Given the description of an element on the screen output the (x, y) to click on. 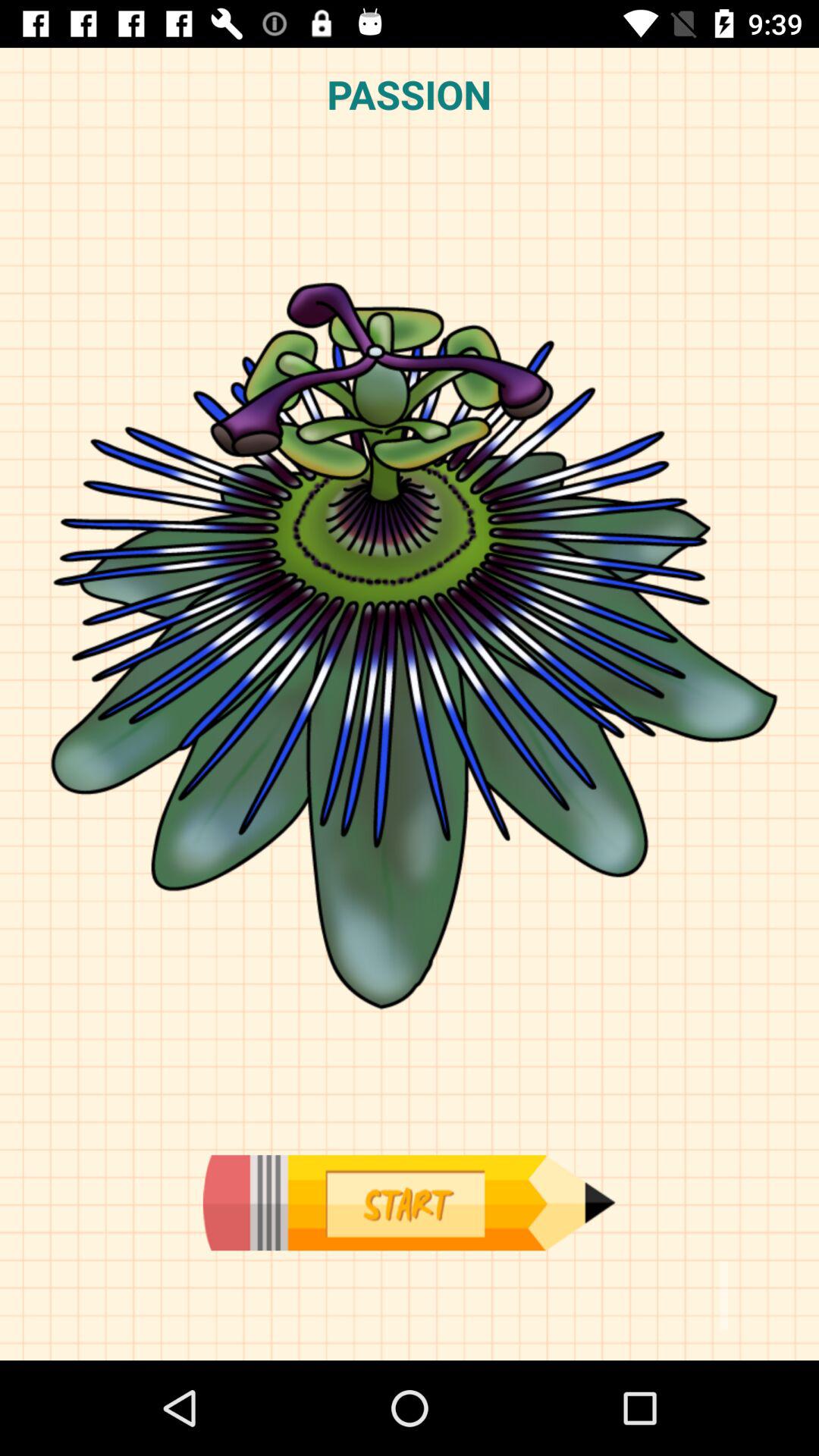
begin drawing in application (409, 1202)
